Given the description of an element on the screen output the (x, y) to click on. 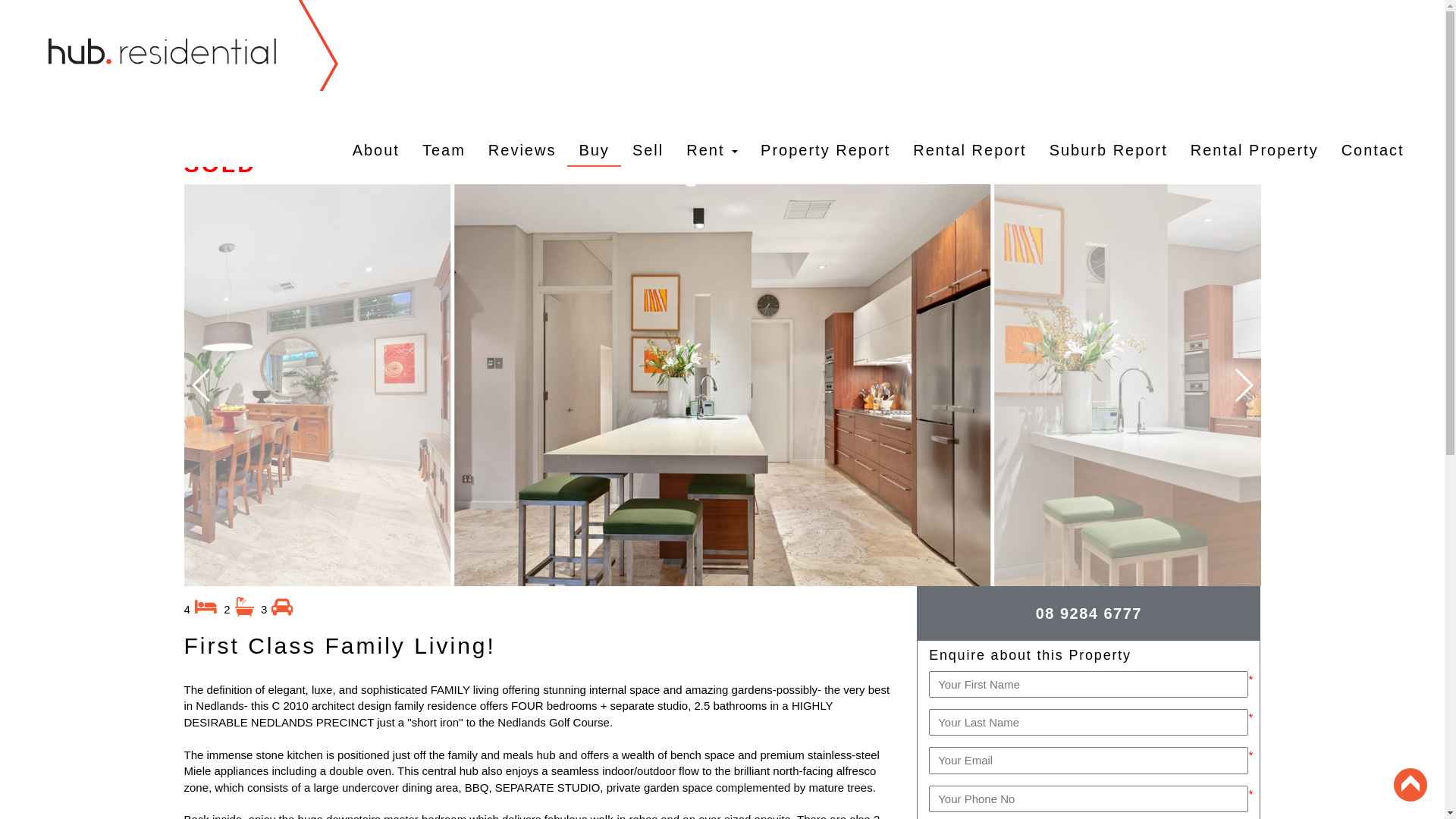
Property Report Element type: text (825, 128)
08 9284 6777 Element type: text (1088, 613)
Rent Element type: text (711, 128)
Hub Residential Element type: hover (180, 45)
Reviews Element type: text (521, 128)
Suburb Report Element type: text (1108, 128)
Hub Residential Element type: hover (196, 45)
Buy Element type: text (593, 128)
08 9284 6777 Element type: text (1088, 613)
Rental Report Element type: text (969, 128)
Property for sale in Nedlands Element type: hover (722, 385)
Sell Element type: text (647, 128)
Team Element type: text (443, 128)
About Element type: text (376, 128)
Contact Element type: text (1372, 128)
Rental Property Element type: text (1254, 128)
